Given the description of an element on the screen output the (x, y) to click on. 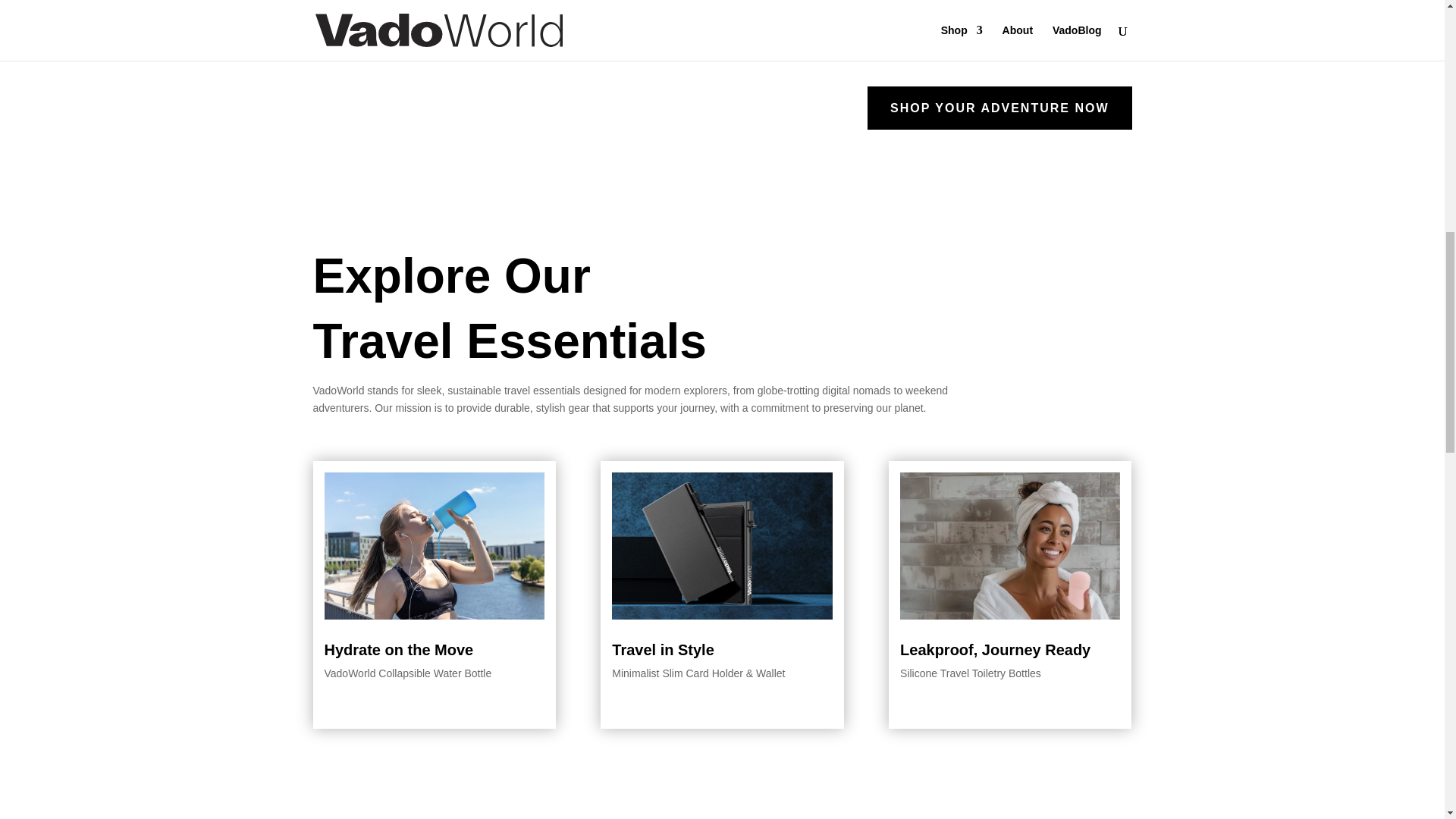
Hydrate on the Move (399, 649)
Homepage - New 2 Homepage - New (721, 545)
Leakproof, Journey Ready (994, 649)
Homepage - New 3 Homepage - New (1009, 545)
Travel in Style (662, 649)
Homepage - New 1 Homepage - New (434, 545)
SHOP YOUR ADVENTURE NOW (999, 107)
